Given the description of an element on the screen output the (x, y) to click on. 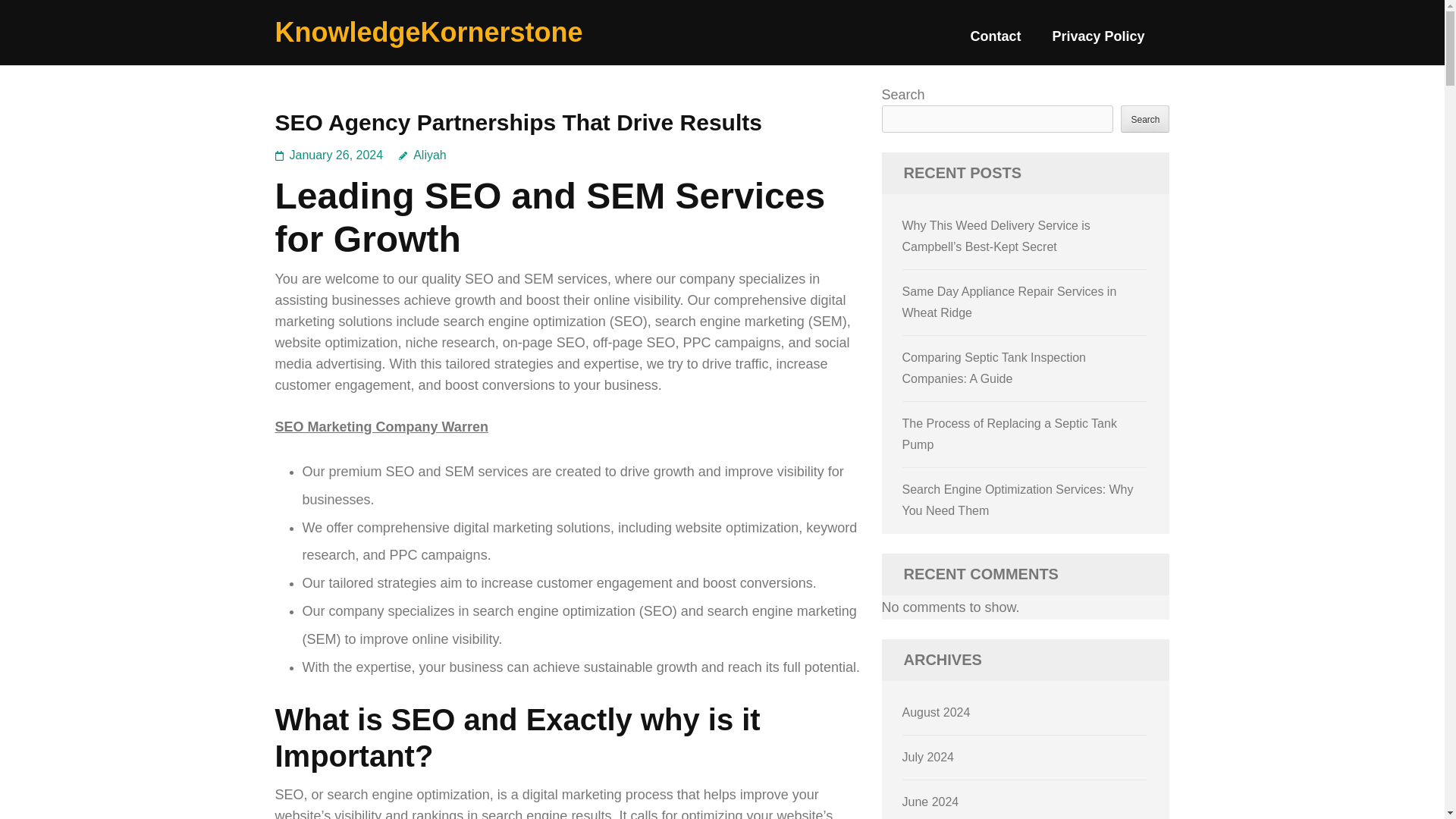
Search Engine Optimization Services: Why You Need Them (1018, 499)
The Process of Replacing a Septic Tank Pump (1009, 433)
KnowledgeKornerstone (428, 31)
Same Day Appliance Repair Services in Wheat Ridge (1009, 302)
Contact (994, 42)
January 26, 2024 (336, 154)
SEO Marketing Company Warren (381, 426)
Comparing Septic Tank Inspection Companies: A Guide (994, 367)
June 2024 (930, 801)
Search (1145, 118)
